Given the description of an element on the screen output the (x, y) to click on. 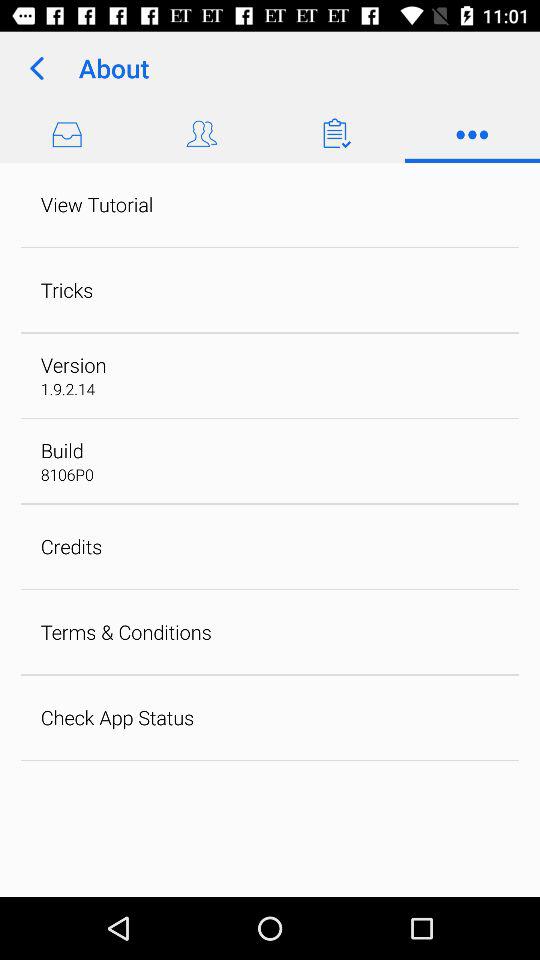
turn on credits app (71, 546)
